Given the description of an element on the screen output the (x, y) to click on. 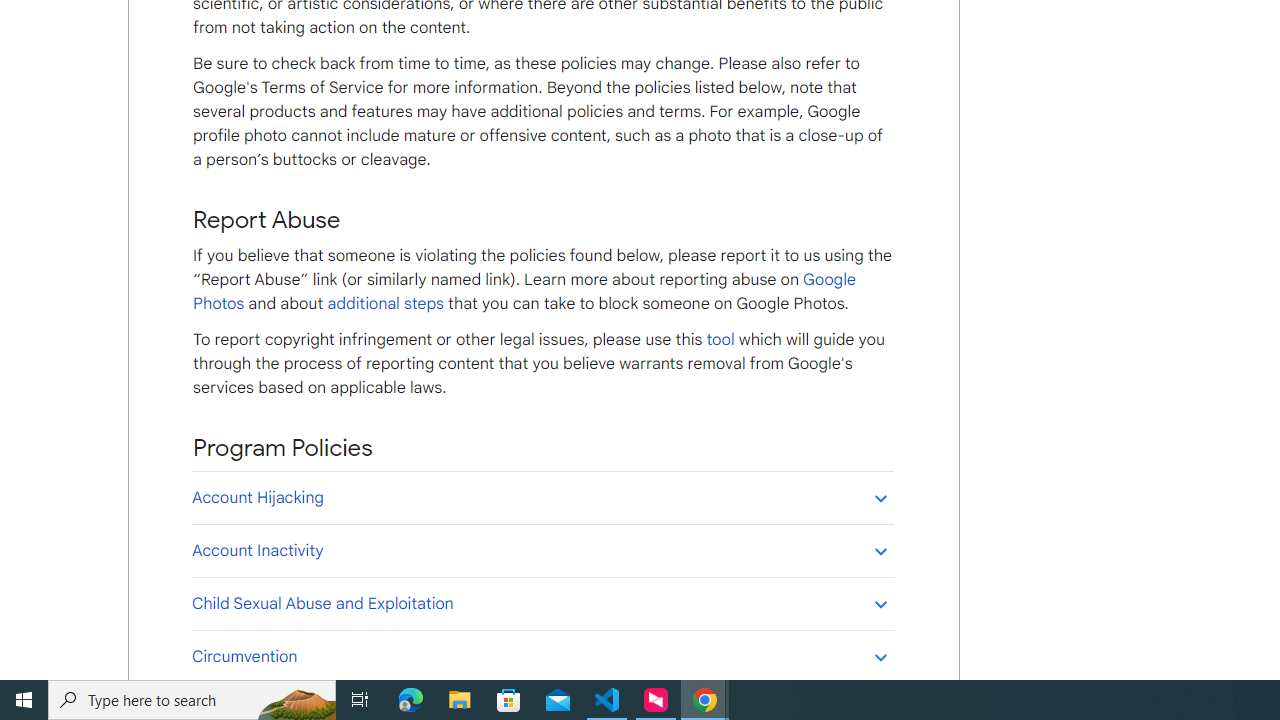
Circumvention (542, 656)
Google Photos (524, 291)
Child Sexual Abuse and Exploitation (542, 603)
additional steps (385, 303)
Account Hijacking (542, 497)
Account Inactivity (542, 550)
tool (720, 339)
